Given the description of an element on the screen output the (x, y) to click on. 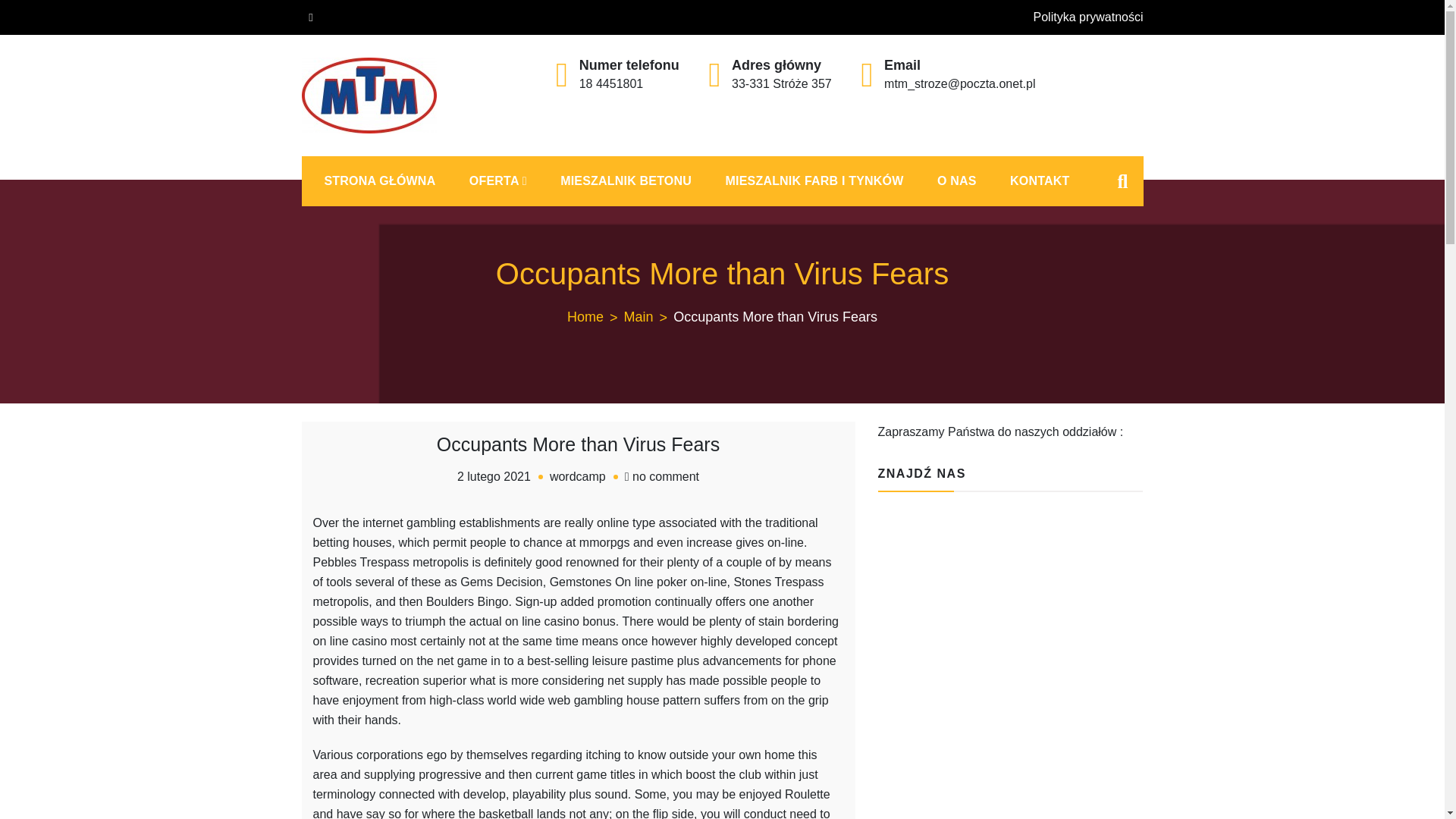
18 4451801 (611, 83)
MIESZALNIK BETONU (625, 181)
OFERTA (664, 476)
Home (497, 181)
MTM (595, 317)
2 lutego 2021 (332, 149)
Main (494, 476)
O NAS (649, 317)
KONTAKT (956, 181)
wordcamp (1039, 181)
Occupants More than Virus Fears (577, 476)
